Given the description of an element on the screen output the (x, y) to click on. 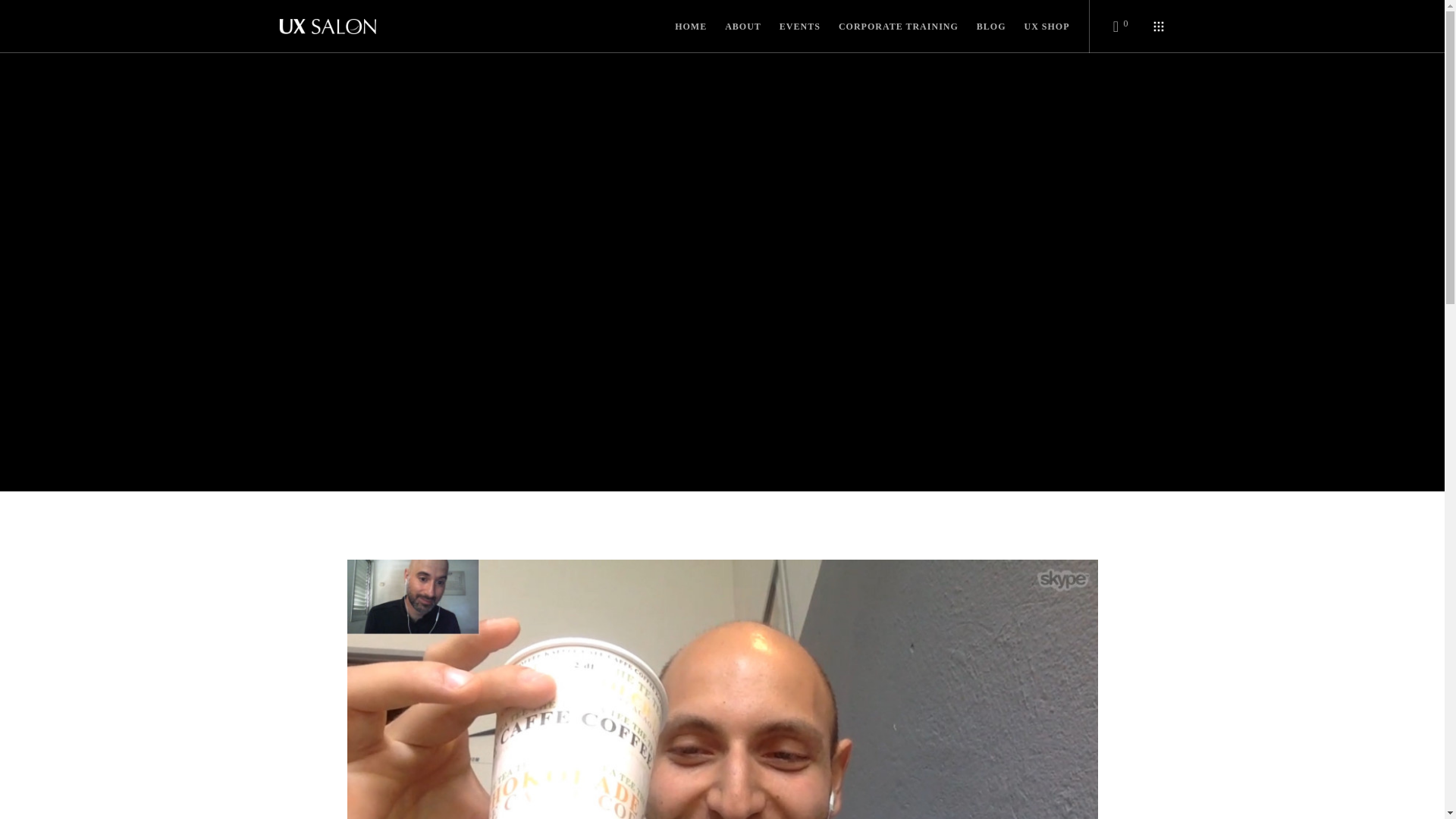
HOME (681, 26)
UX SHOP (1037, 26)
ABOUT (733, 26)
CORPORATE TRAINING (889, 26)
EVENTS (791, 26)
BLOG (982, 26)
